Given the description of an element on the screen output the (x, y) to click on. 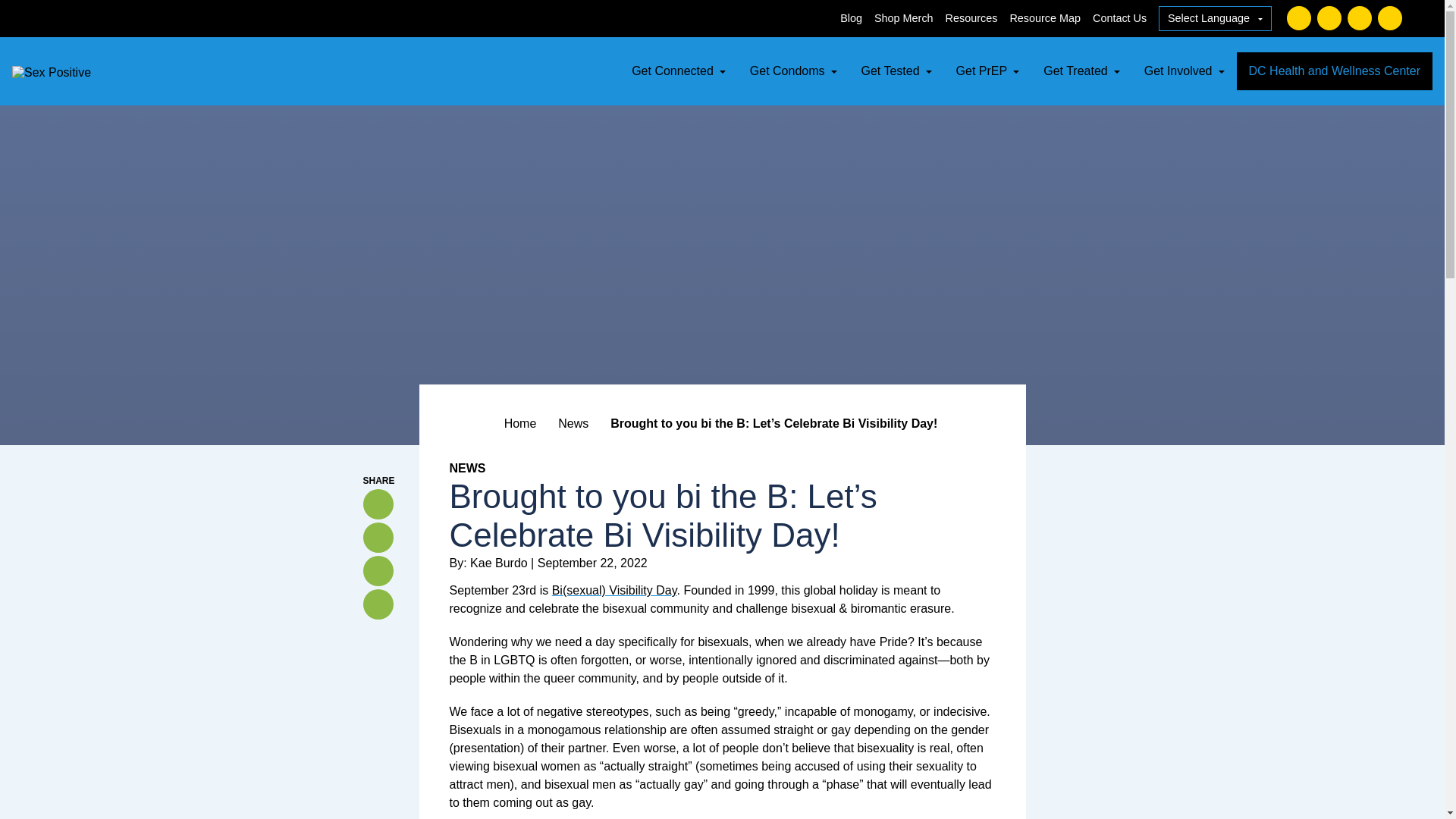
Instagram (1359, 17)
Shop Merch (904, 18)
Facebook (1299, 17)
Resources (970, 18)
Blog (850, 18)
Sex Positive (50, 72)
Get Tested (895, 70)
Get Condoms (793, 70)
Toggle Search (1424, 17)
Contact Us (1120, 18)
Get Connected (679, 70)
Resource Map (1044, 18)
Twitter (1328, 17)
YouTube (1389, 17)
